Given the description of an element on the screen output the (x, y) to click on. 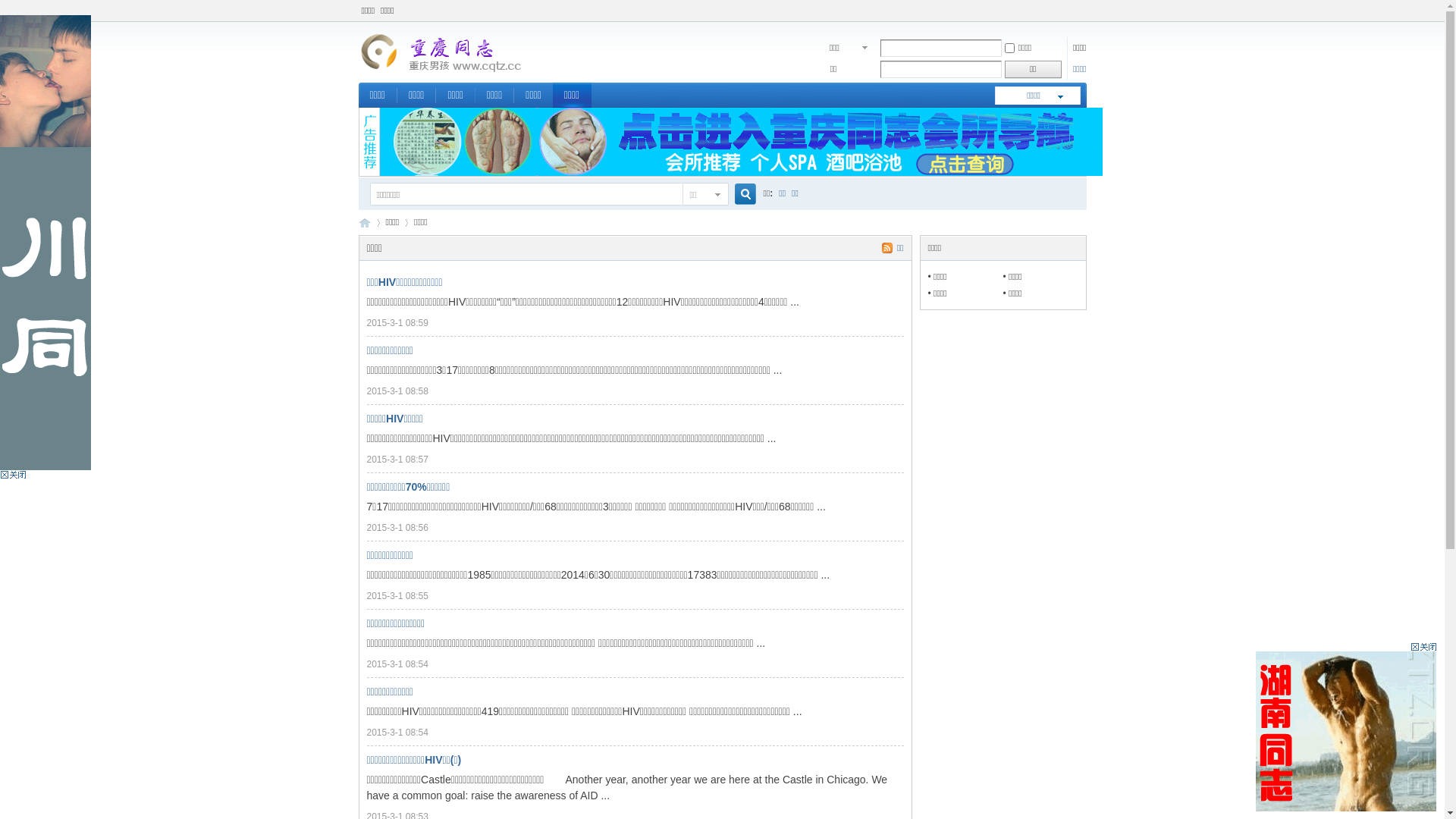
true Element type: text (738, 194)
